Given the description of an element on the screen output the (x, y) to click on. 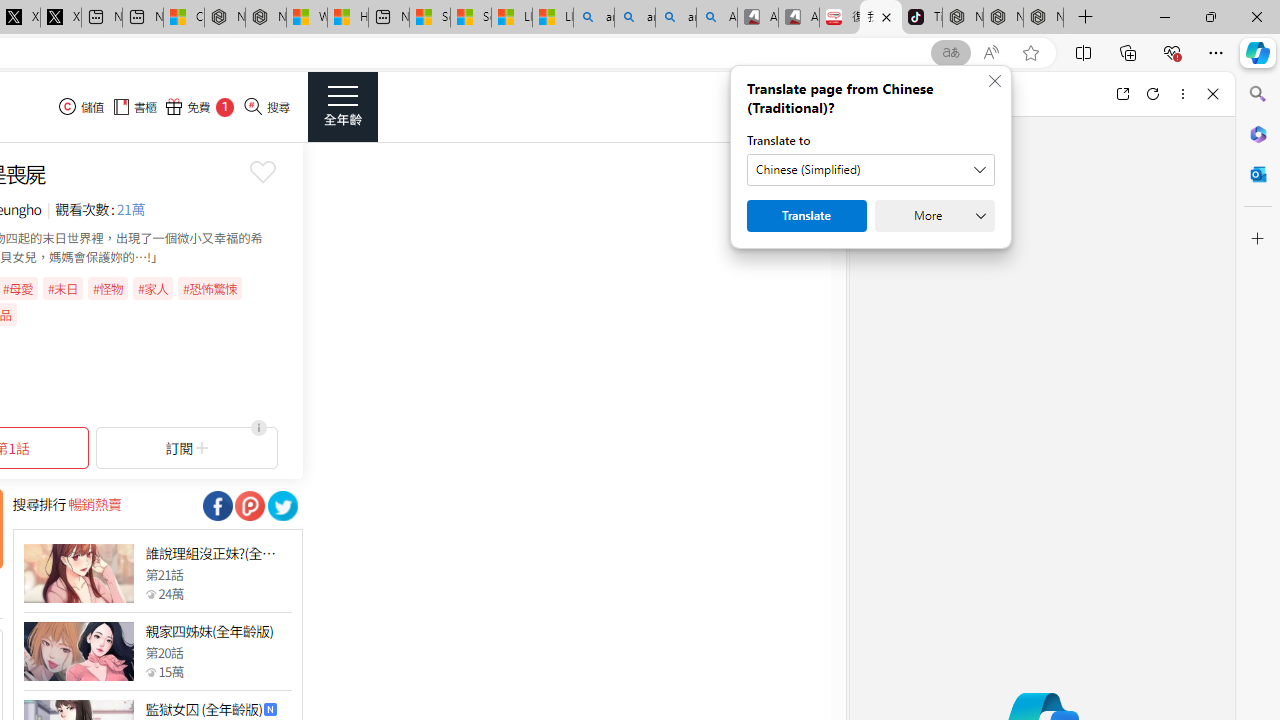
Class: side_menu_btn actionRightMenuBtn (342, 106)
All Cubot phones (799, 17)
Customize (1258, 239)
Nordace Siena Pro 15 Backpack (1003, 17)
Translate to (870, 169)
